Given the description of an element on the screen output the (x, y) to click on. 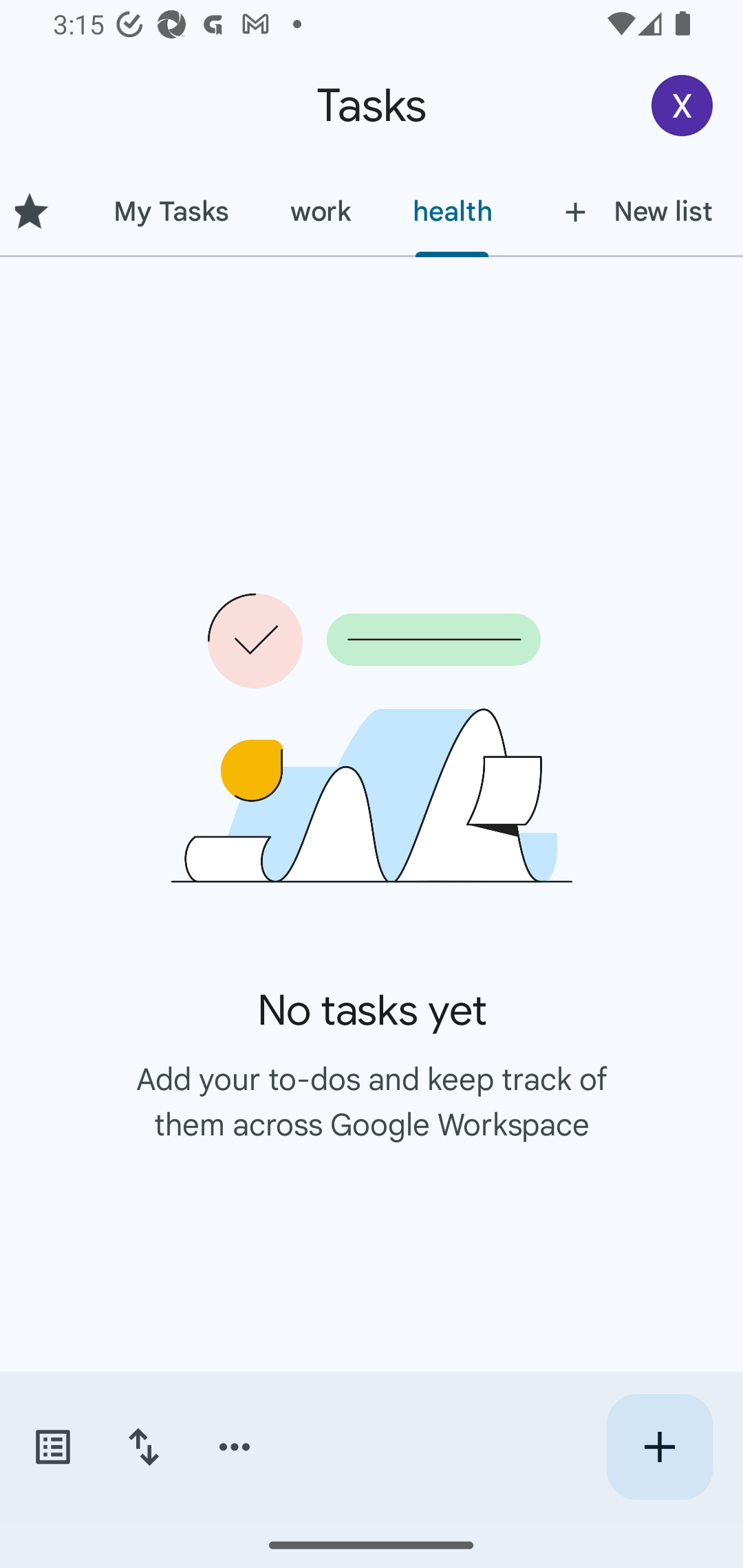
Starred (41, 211)
My Tasks (170, 211)
work (320, 211)
New list (632, 211)
Switch task lists (52, 1447)
Create new task (659, 1446)
Change sort order (143, 1446)
More options (234, 1446)
